Given the description of an element on the screen output the (x, y) to click on. 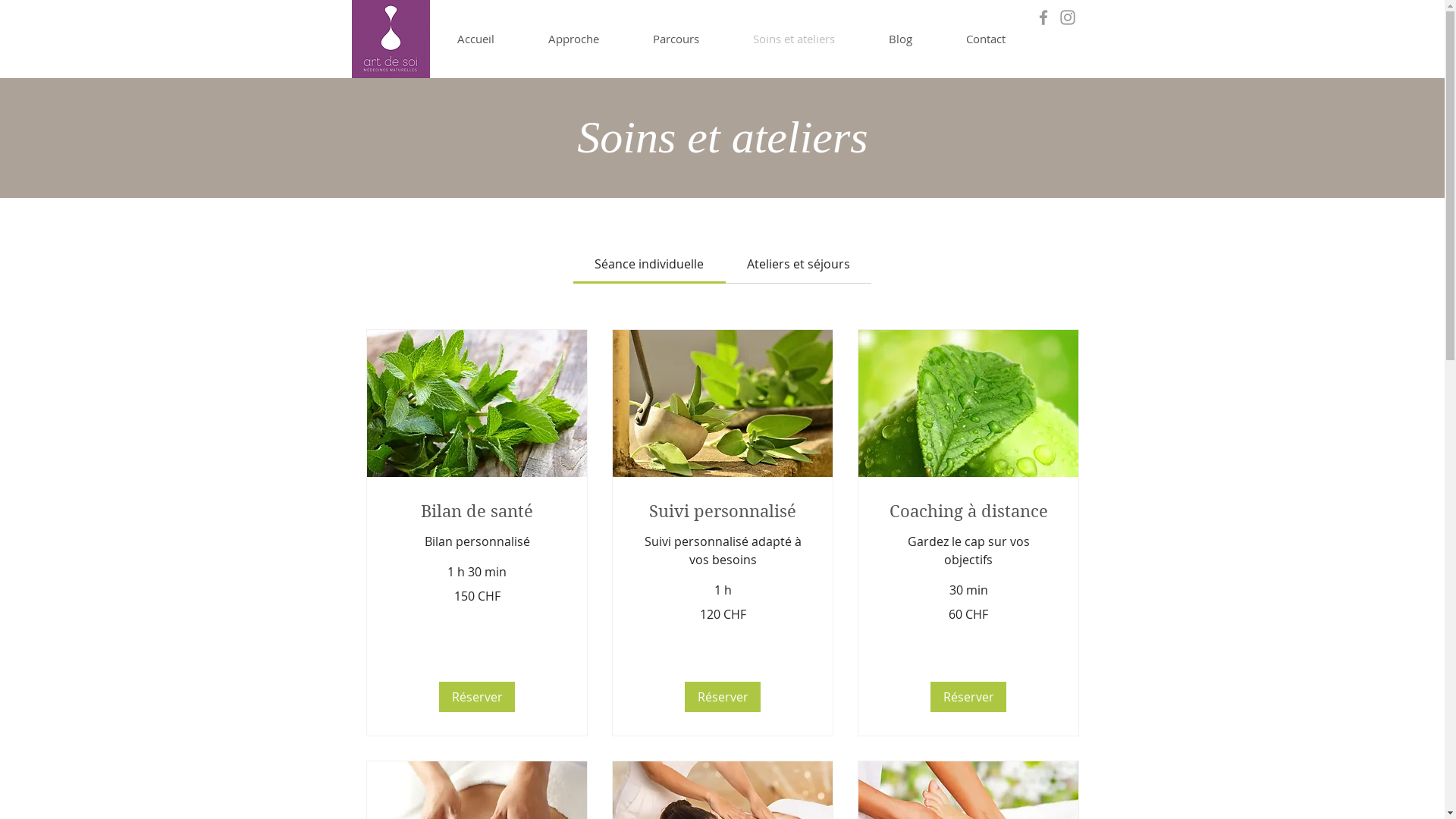
Accueil Element type: text (474, 38)
Parcours Element type: text (676, 38)
Contact Element type: text (985, 38)
ArtDeSoi_LOGO_1-5_v02.png Element type: hover (390, 39)
Blog Element type: text (899, 38)
Soins et ateliers Element type: text (794, 38)
Approche Element type: text (573, 38)
